Given the description of an element on the screen output the (x, y) to click on. 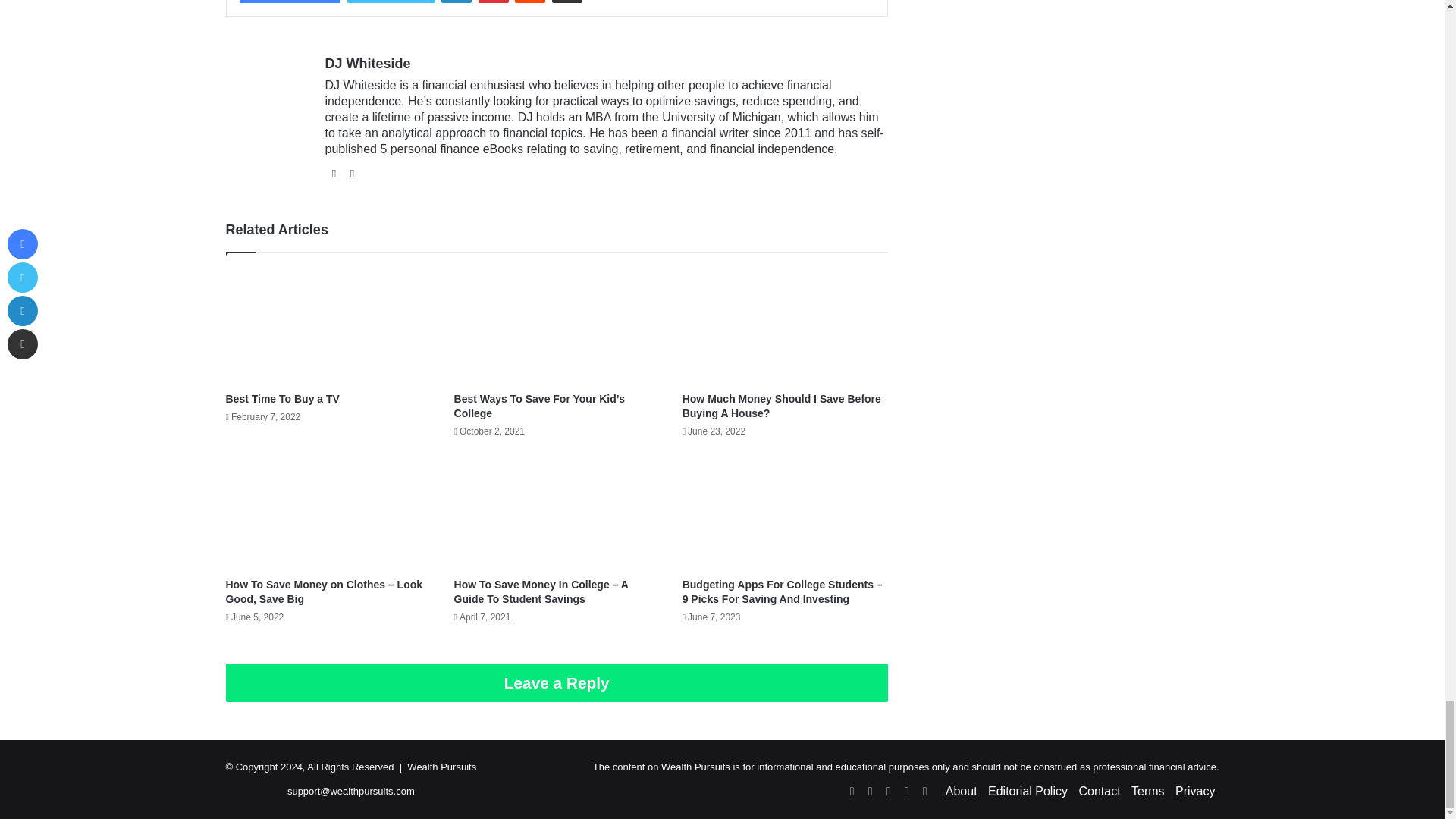
Pinterest (493, 1)
Share via Email (566, 1)
Facebook (290, 1)
Twitter (391, 1)
Reddit (529, 1)
LinkedIn (456, 1)
